Given the description of an element on the screen output the (x, y) to click on. 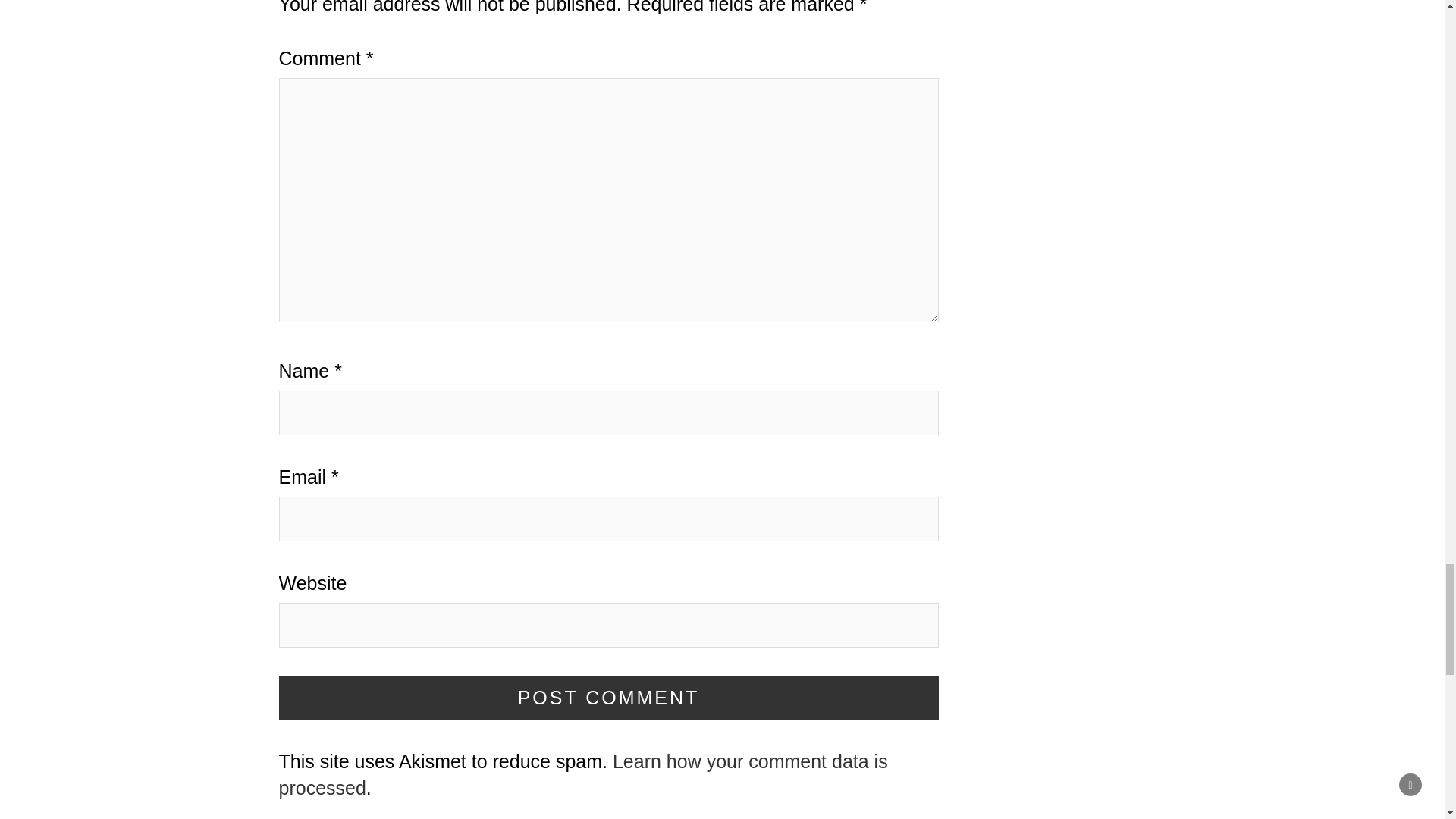
Post Comment (609, 698)
